Given the description of an element on the screen output the (x, y) to click on. 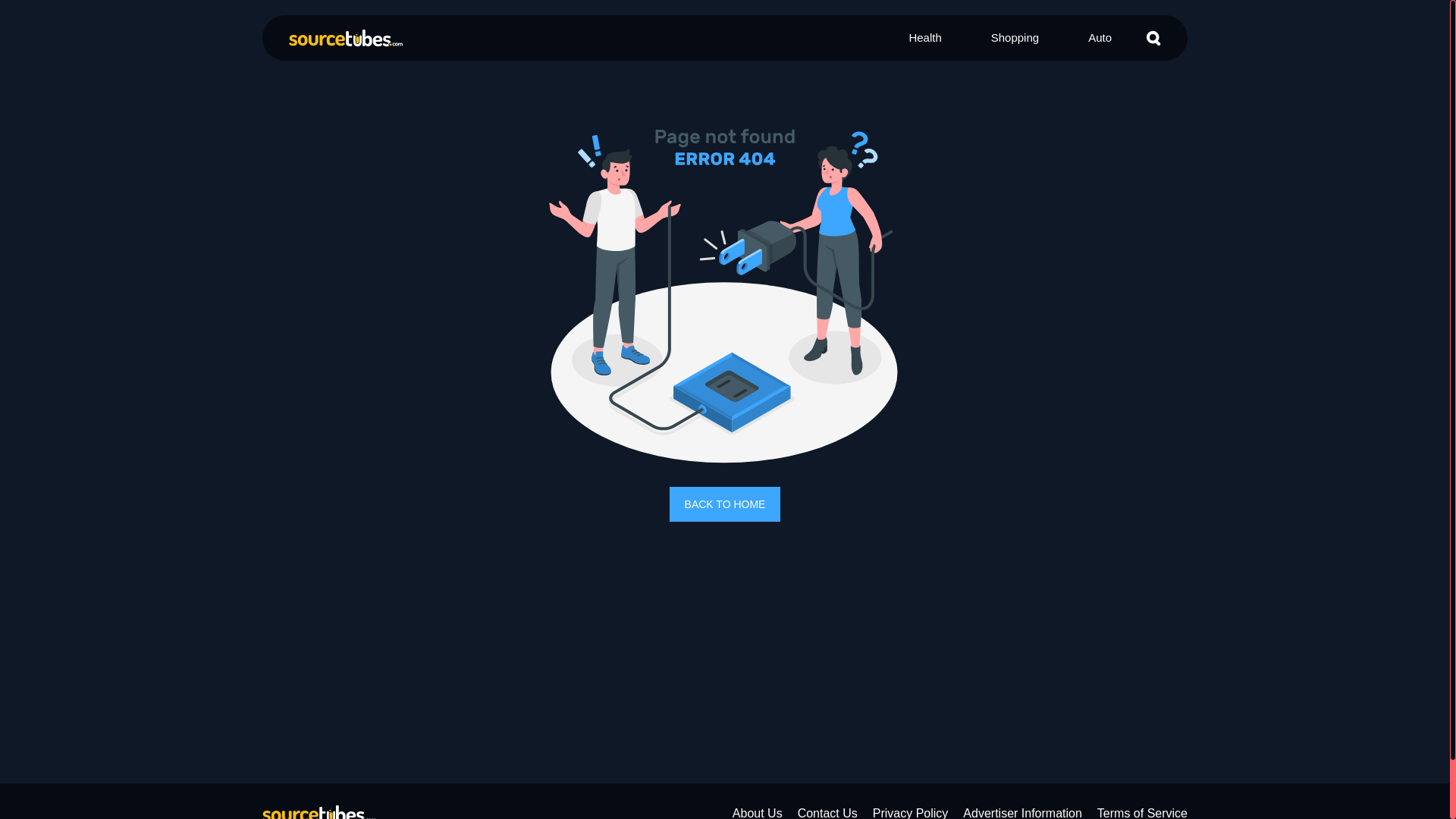
Advertiser Information (1021, 812)
Auto (1099, 37)
Terms of Service (1142, 812)
Health (924, 37)
Contact Us (827, 812)
Shopping (1015, 37)
Privacy Policy (910, 812)
BACK TO HOME (724, 503)
About Us (757, 812)
